Given the description of an element on the screen output the (x, y) to click on. 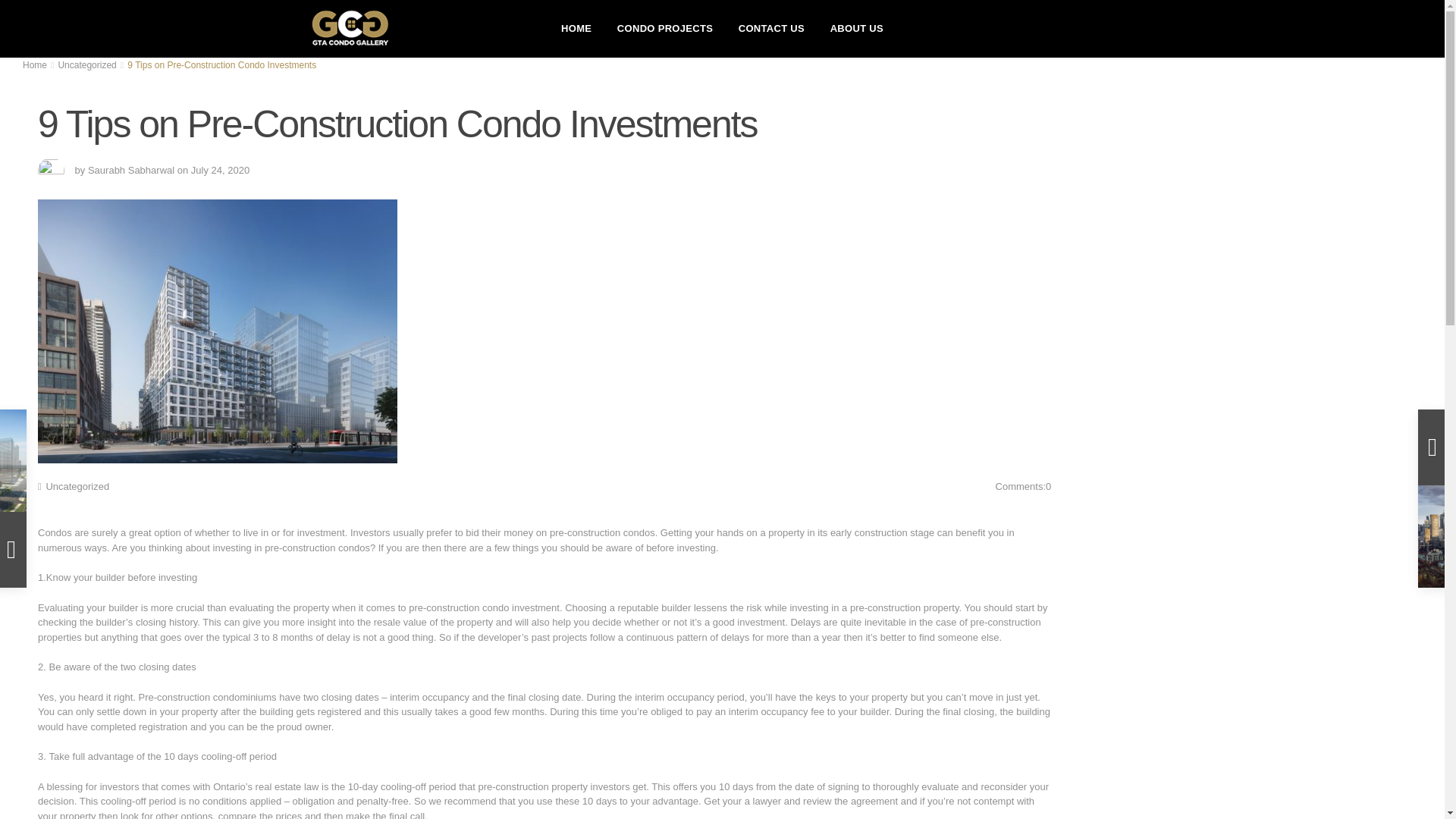
CONTACT US (770, 28)
Condo Projects (664, 28)
CONDO PROJECTS (664, 28)
Uncategorized (87, 64)
ABOUT US (856, 28)
HOME (576, 28)
Uncategorized (77, 486)
Home (34, 64)
